Given the description of an element on the screen output the (x, y) to click on. 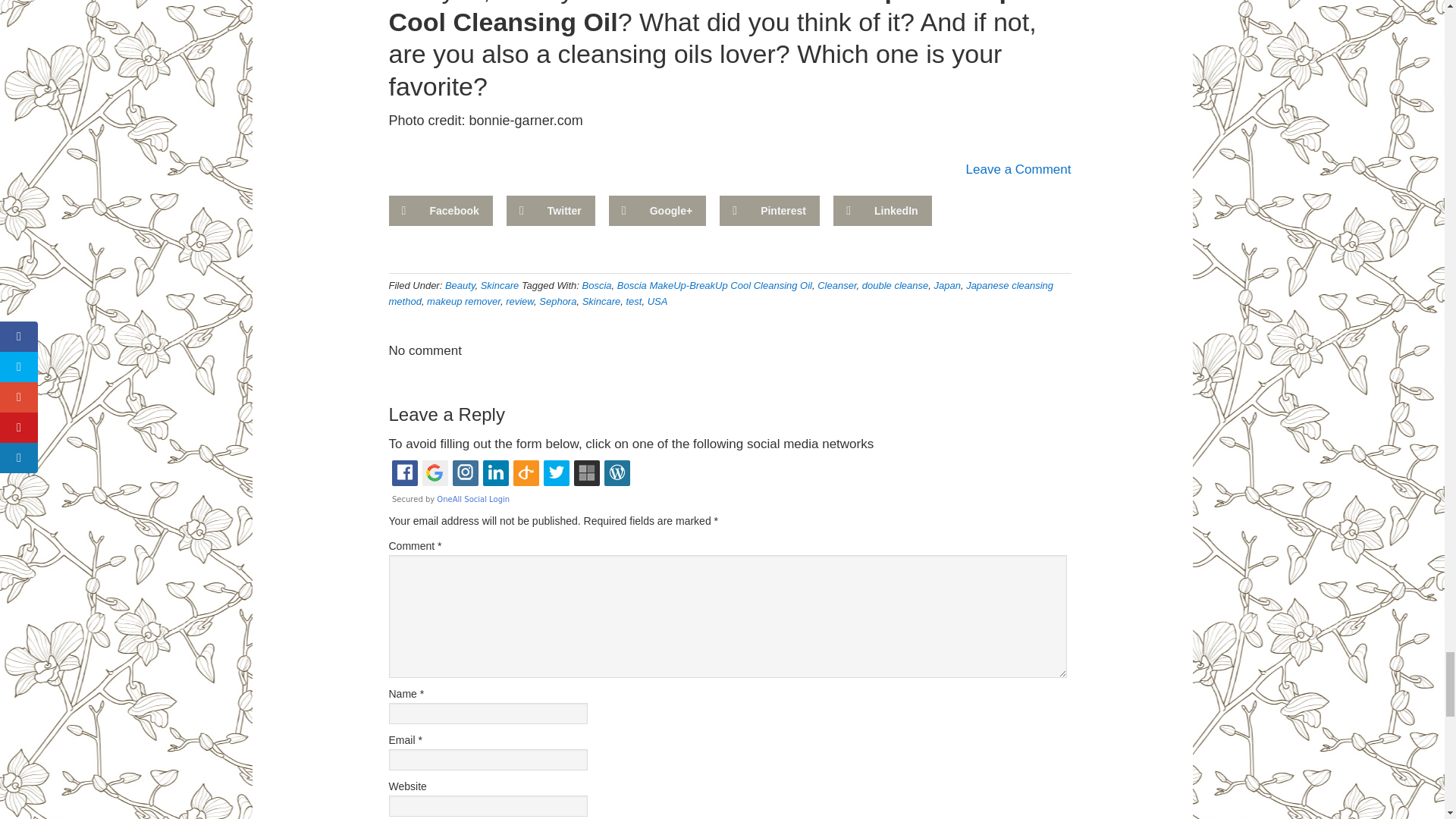
Leave a Comment (1018, 169)
